Given the description of an element on the screen output the (x, y) to click on. 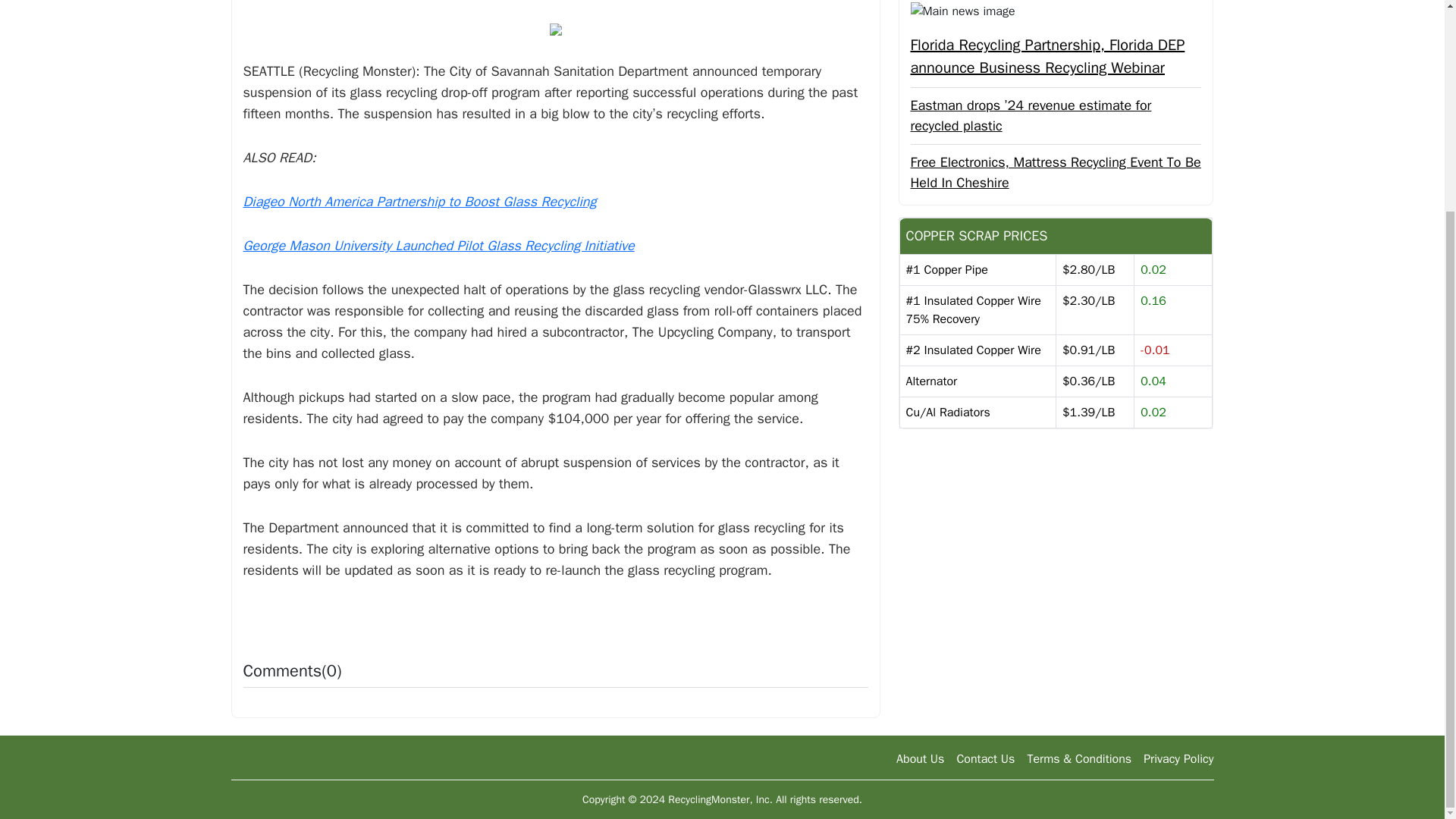
Diageo North America Partnership to Boost Glass Recycling (419, 201)
